Given the description of an element on the screen output the (x, y) to click on. 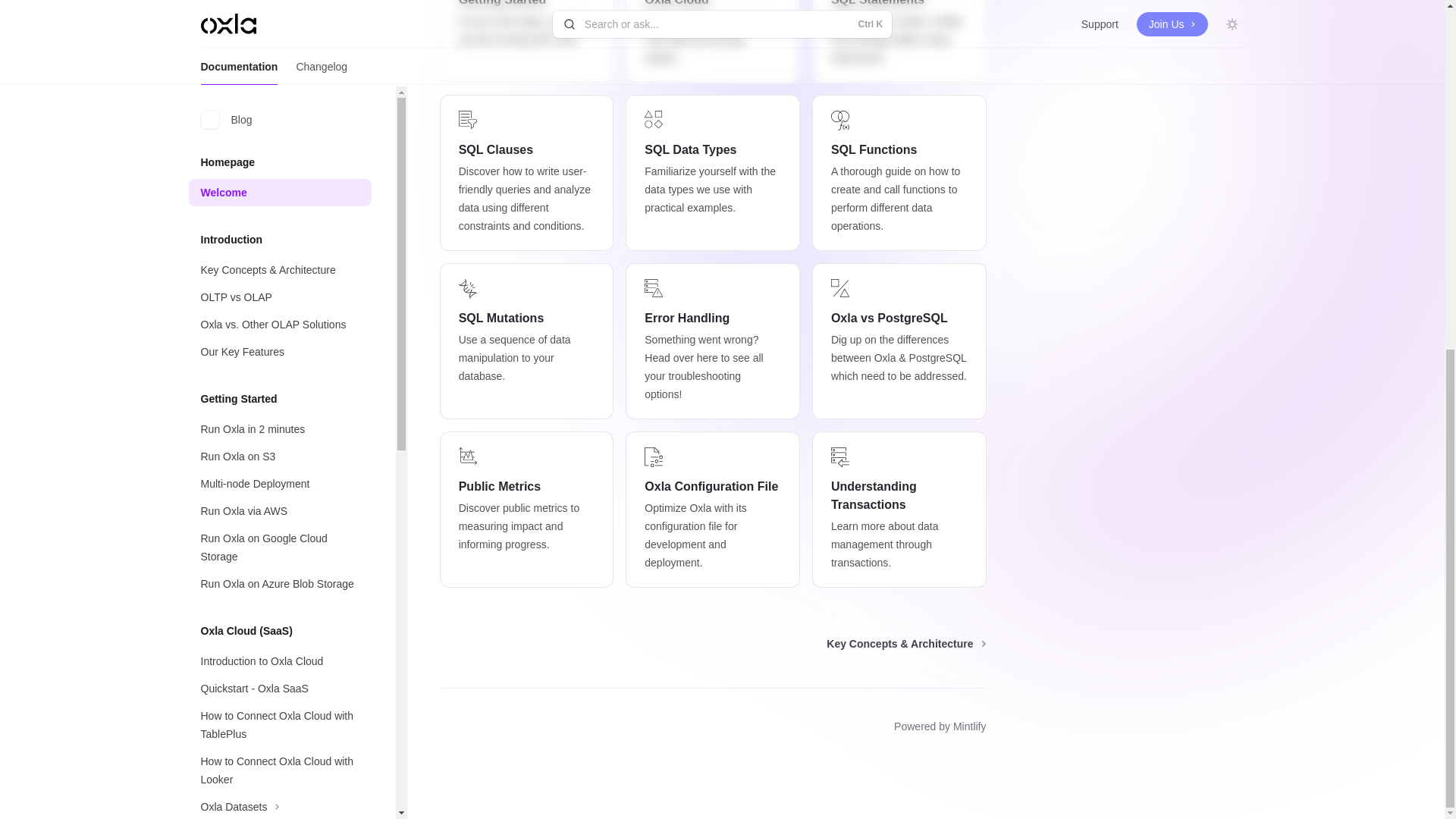
PHP PDO (279, 651)
Mutation - DELETE (279, 574)
Introduction to Oxla Cloud (279, 54)
Comment Support (279, 441)
Quickstart - Oxla SaaS (279, 82)
Error Handling (279, 728)
Schema (279, 414)
Quickstart - Oxla SaaS (279, 82)
Introduction to Oxla Cloud (279, 54)
Mutation - UPDATE (279, 546)
